Given the description of an element on the screen output the (x, y) to click on. 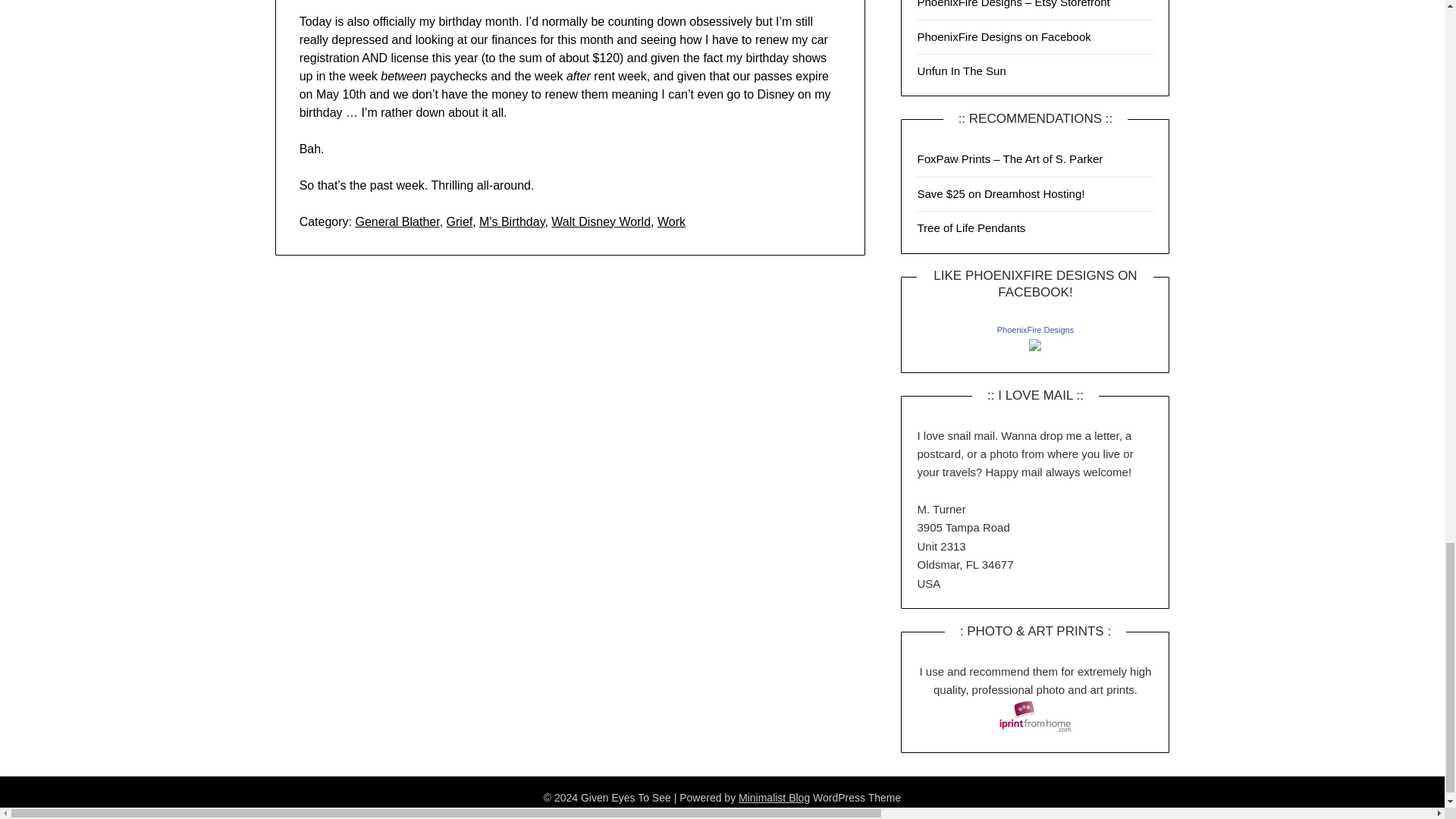
M's Birthday (511, 221)
Work (671, 221)
Walt Disney World (600, 221)
Grief (459, 221)
Find me on Facebook! (1003, 36)
General Blather (397, 221)
